Given the description of an element on the screen output the (x, y) to click on. 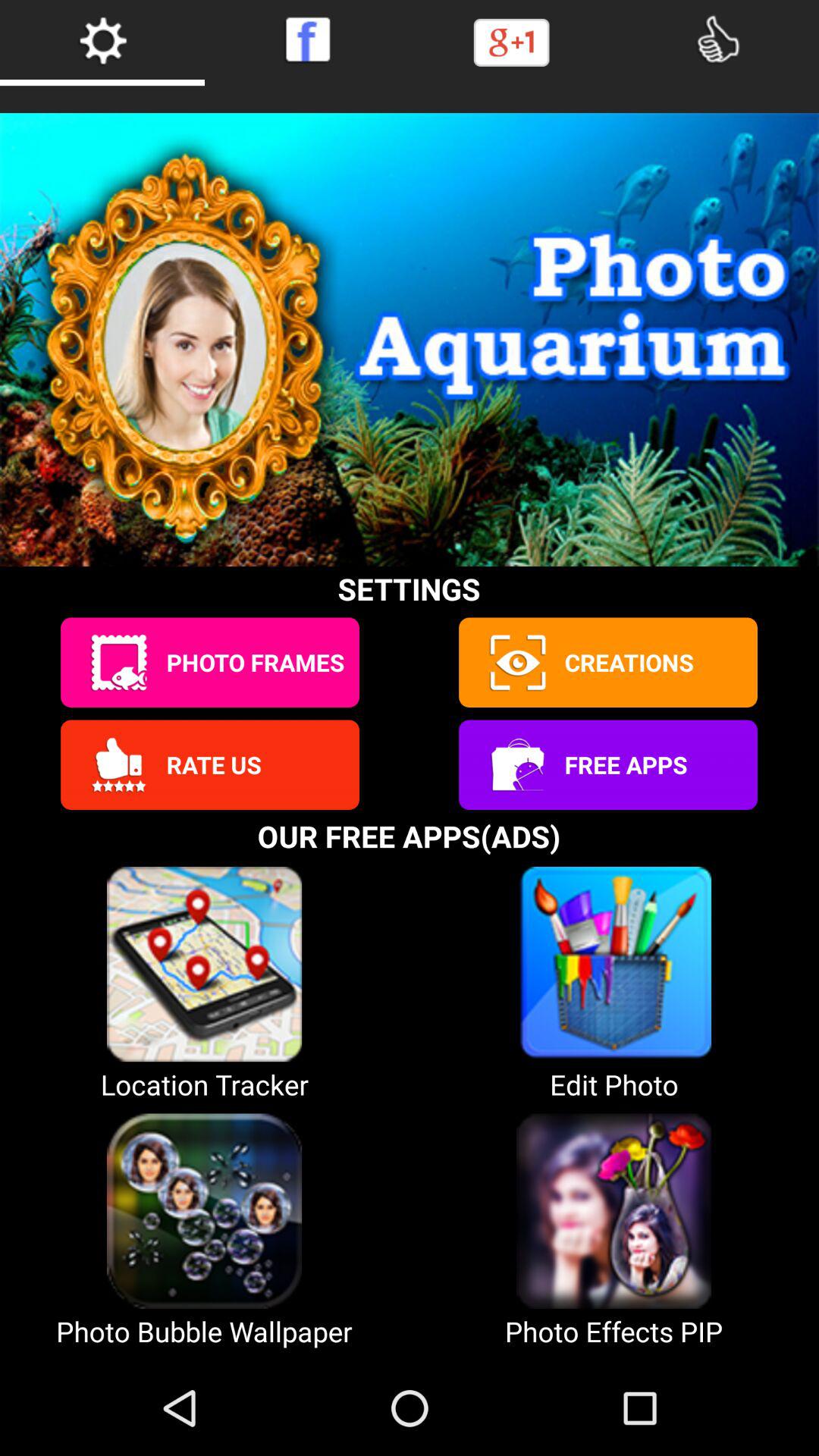
open settings (102, 39)
